Given the description of an element on the screen output the (x, y) to click on. 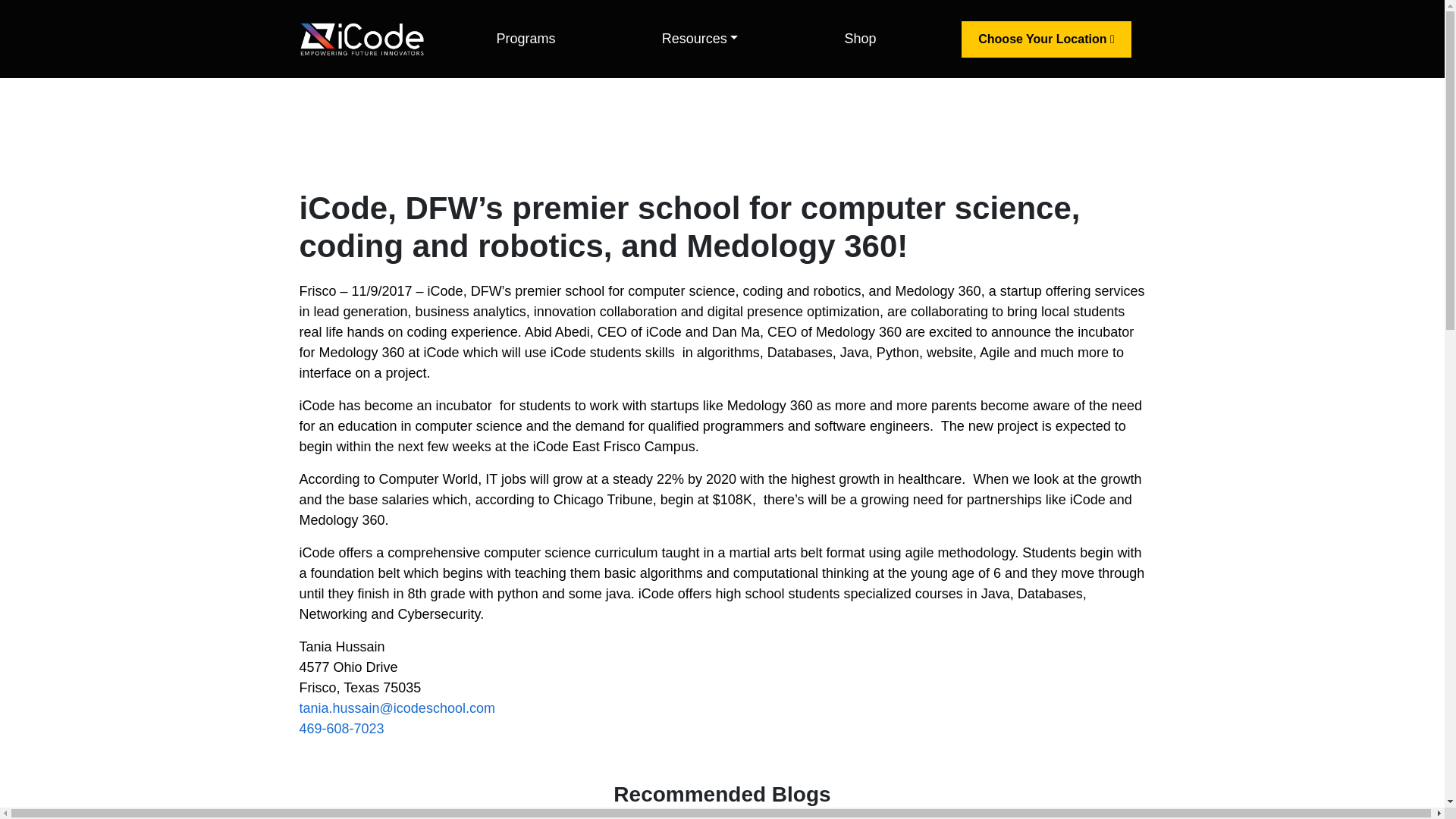
Shop (859, 38)
Choose Your Location (1045, 39)
Resources (700, 38)
Programs (525, 38)
Shop (859, 38)
Resources (700, 38)
Programs (525, 38)
